Given the description of an element on the screen output the (x, y) to click on. 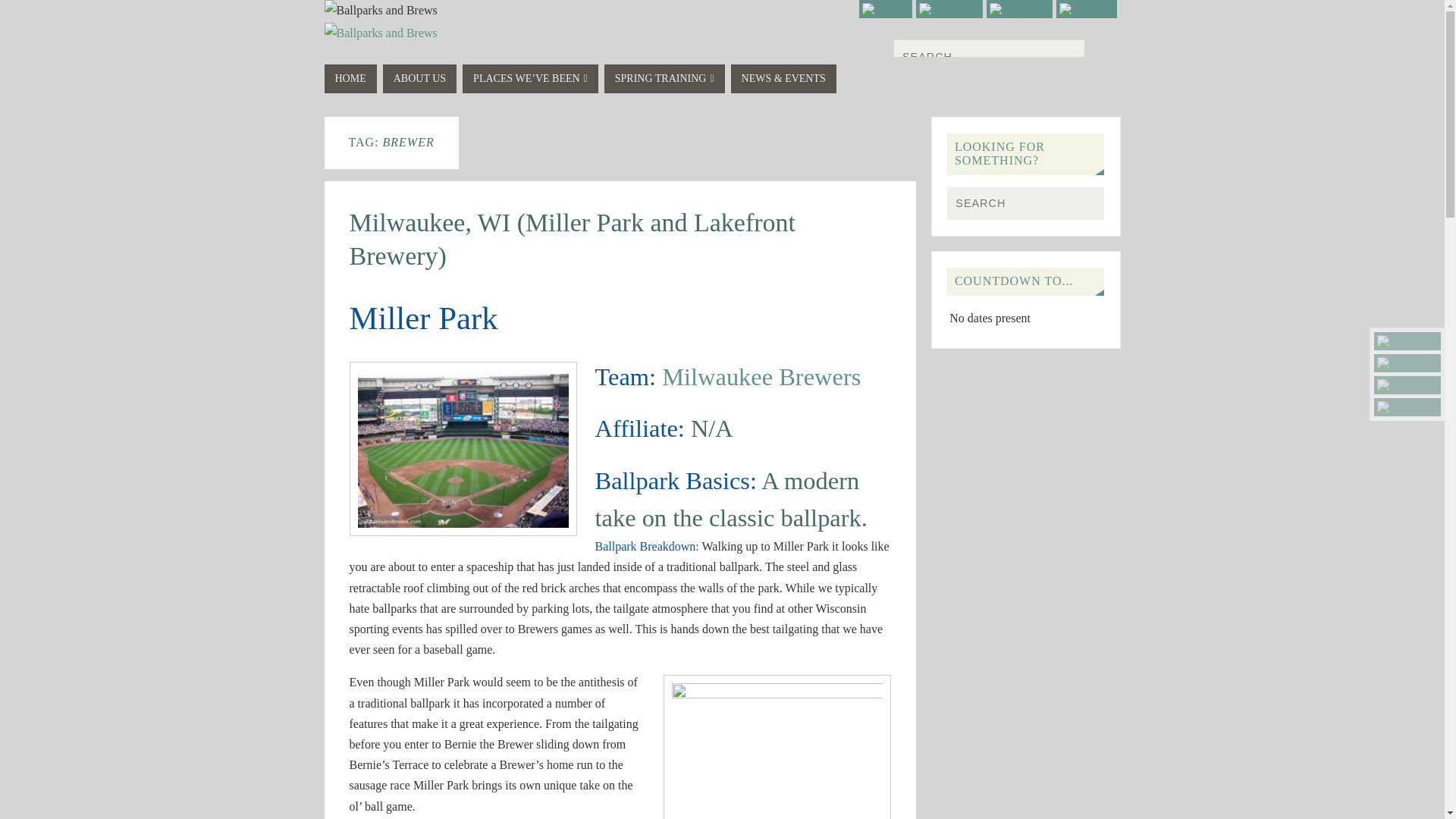
Instagram (948, 9)
Pinterest (1407, 407)
Instagram (1407, 362)
Facebook (1019, 9)
Ballparks and Brews (381, 32)
Twitter (885, 9)
Milwaukee Brewers (761, 376)
ABOUT US (419, 78)
Pinterest (1085, 9)
Facebook (1407, 384)
SPRING TRAINING (664, 78)
Ballparks and Brews (381, 10)
Twitter (1407, 341)
HOME (350, 78)
